Given the description of an element on the screen output the (x, y) to click on. 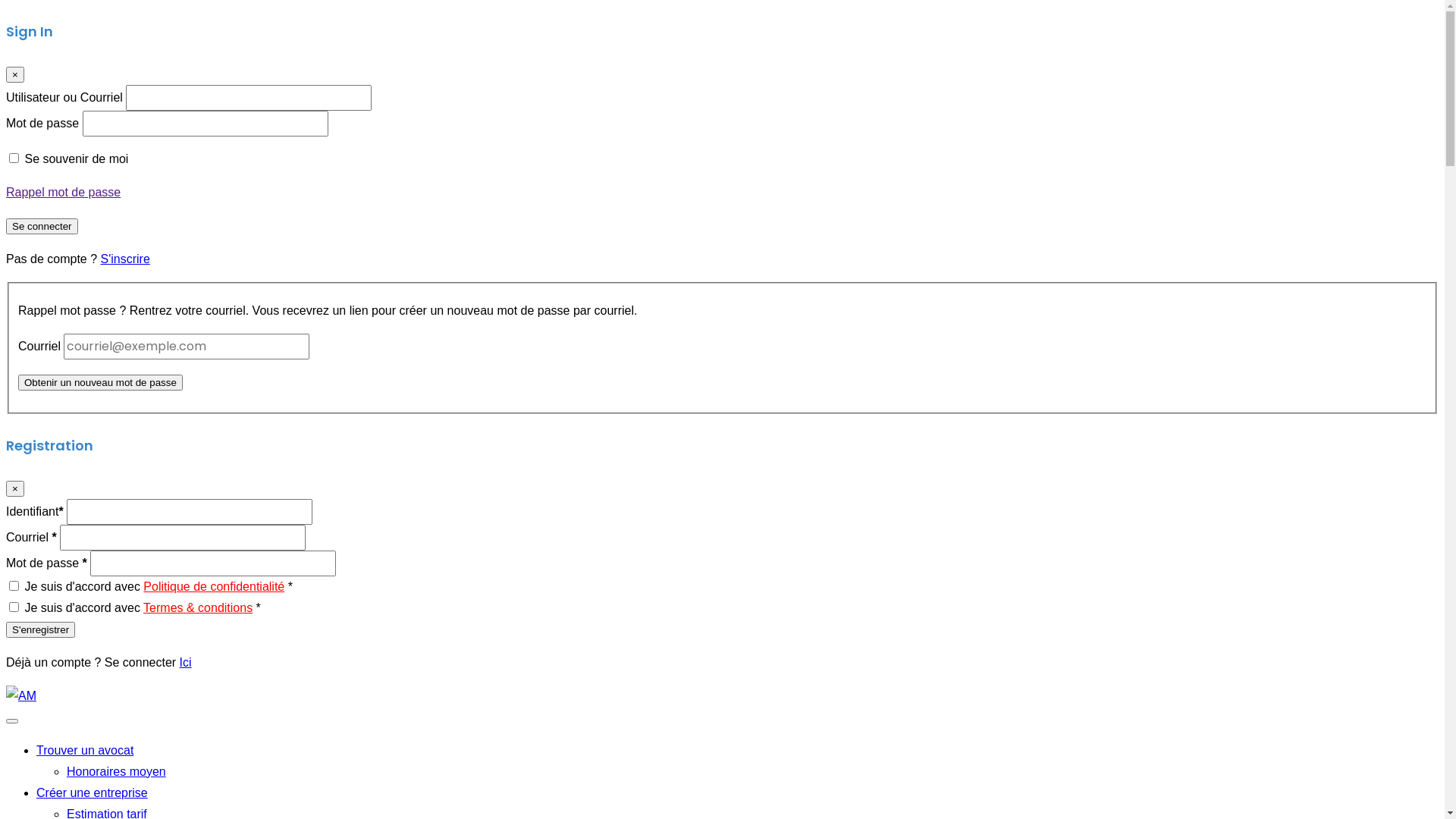
Trouver un avocat Element type: text (84, 749)
Obtenir un nouveau mot de passe Element type: text (100, 382)
Rappel mot de passe Element type: text (63, 191)
Honoraires moyen Element type: text (116, 771)
Se connecter Element type: text (42, 226)
S'enregistrer Element type: text (40, 629)
Ici Element type: text (185, 661)
Termes & conditions Element type: text (197, 607)
S'inscrire Element type: text (125, 258)
